Given the description of an element on the screen output the (x, y) to click on. 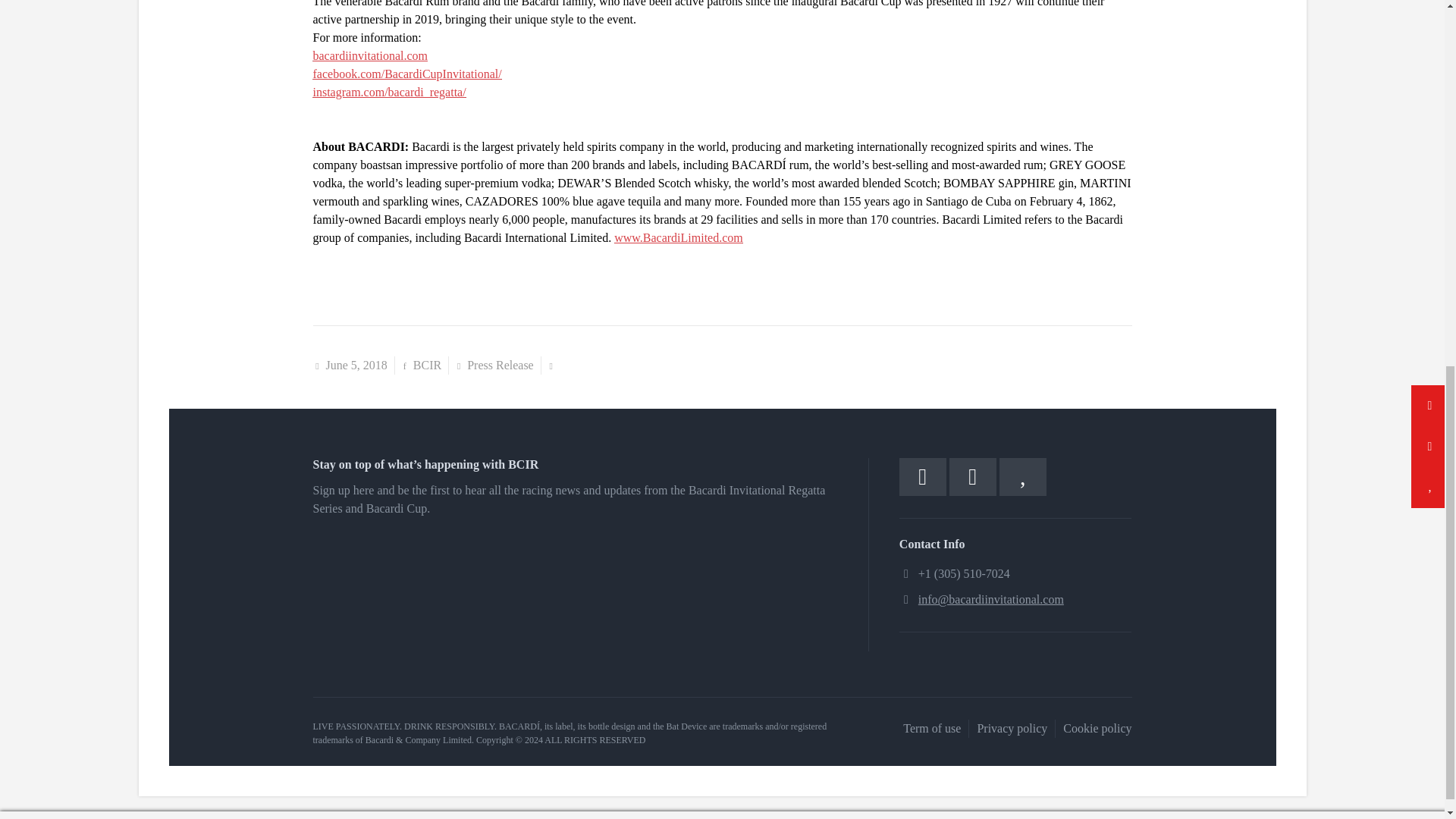
Instagram (972, 476)
June 5, 2018 (356, 364)
Facebook (922, 476)
YouTube (1022, 476)
bacardiinvitational.com (370, 55)
Posts by BCIR (427, 364)
www.BacardiLimited.com (678, 237)
Press Release (500, 364)
BCIR (427, 364)
